Given the description of an element on the screen output the (x, y) to click on. 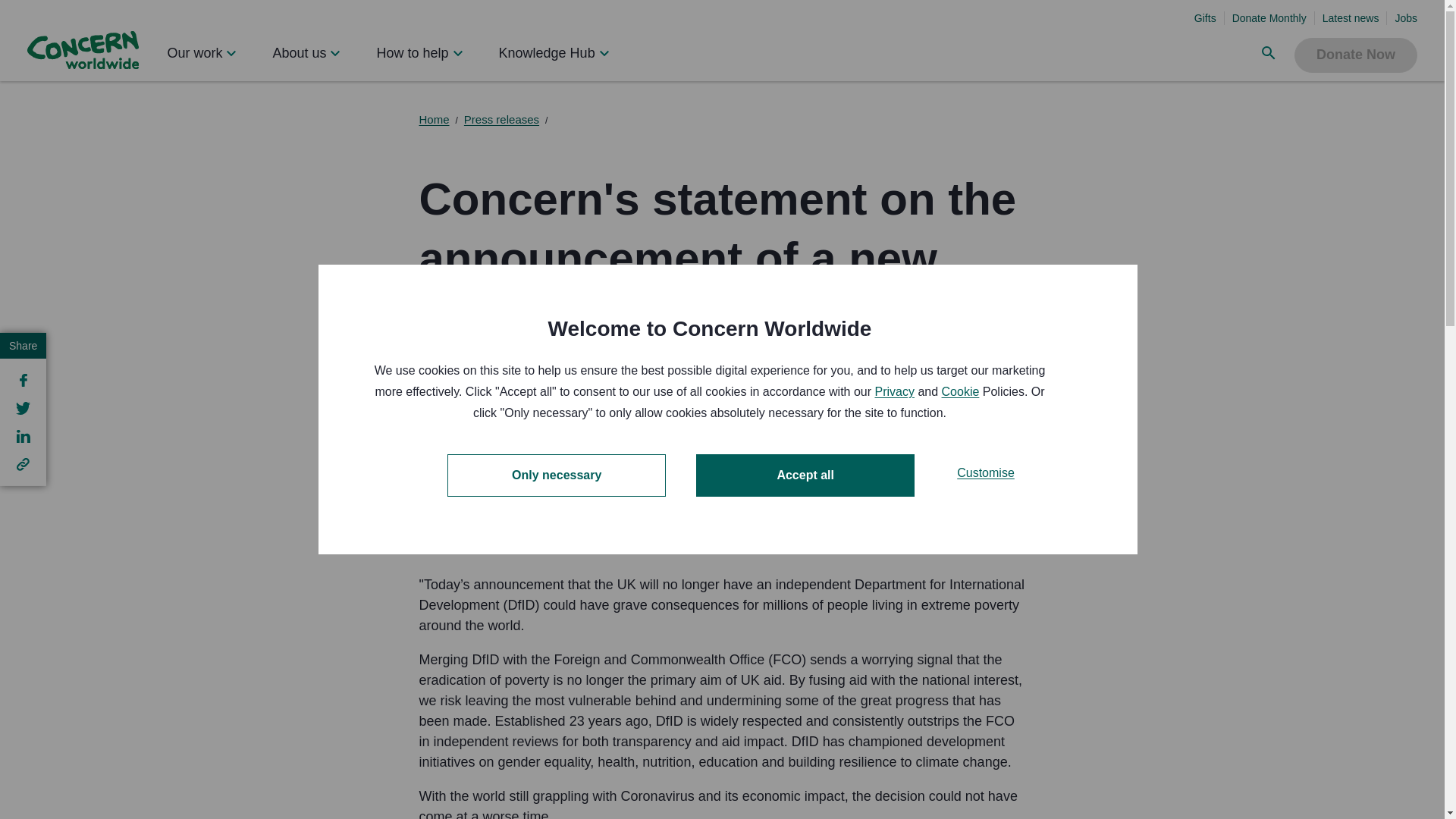
Cookie (960, 453)
Only necessary (555, 531)
Accept all (804, 516)
Privacy (894, 458)
Privacy policy (894, 391)
Customise (985, 505)
Cookie policy (960, 391)
